Given the description of an element on the screen output the (x, y) to click on. 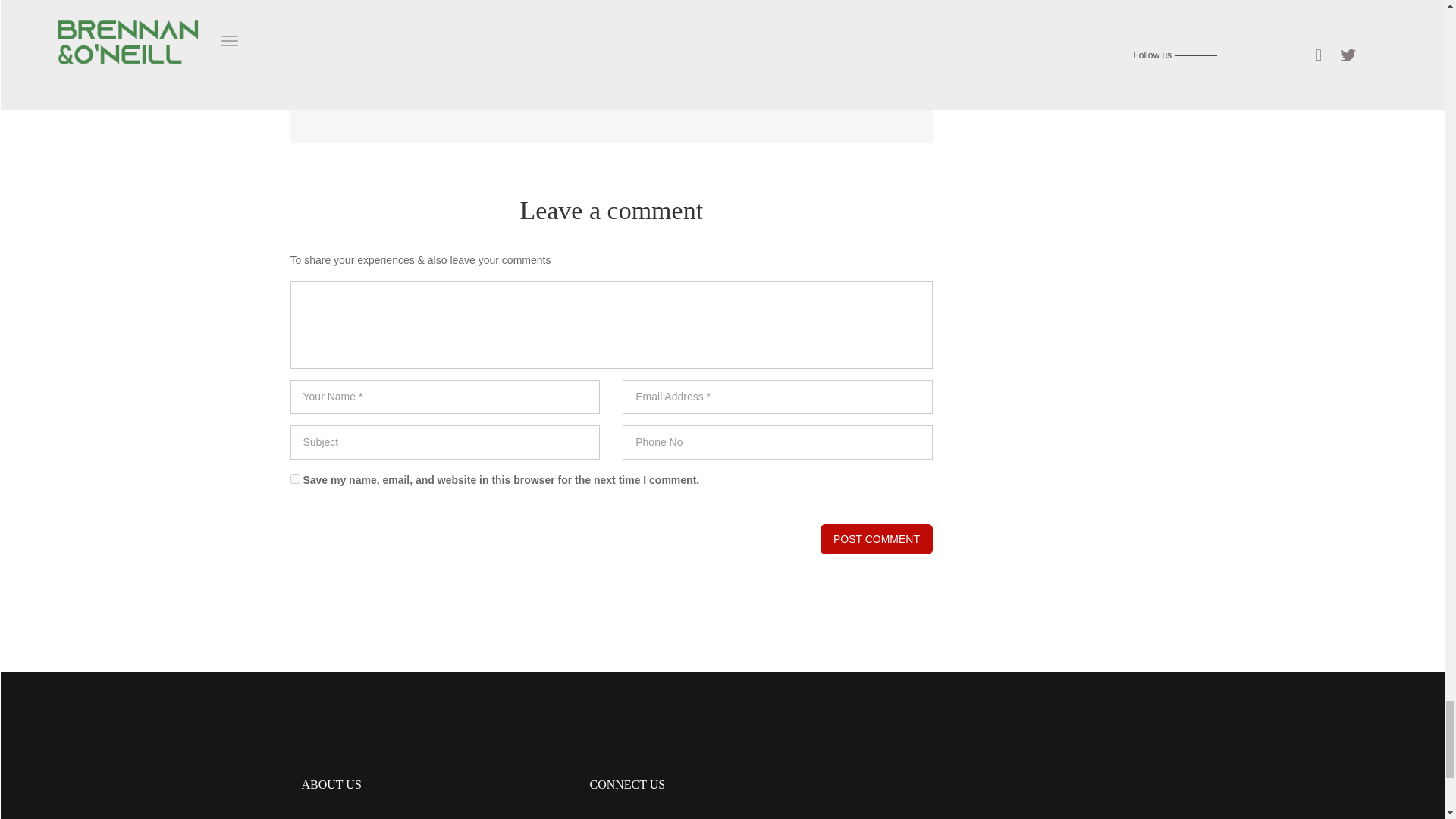
Post Comment (877, 539)
yes (294, 479)
Post Comment (877, 539)
